Given the description of an element on the screen output the (x, y) to click on. 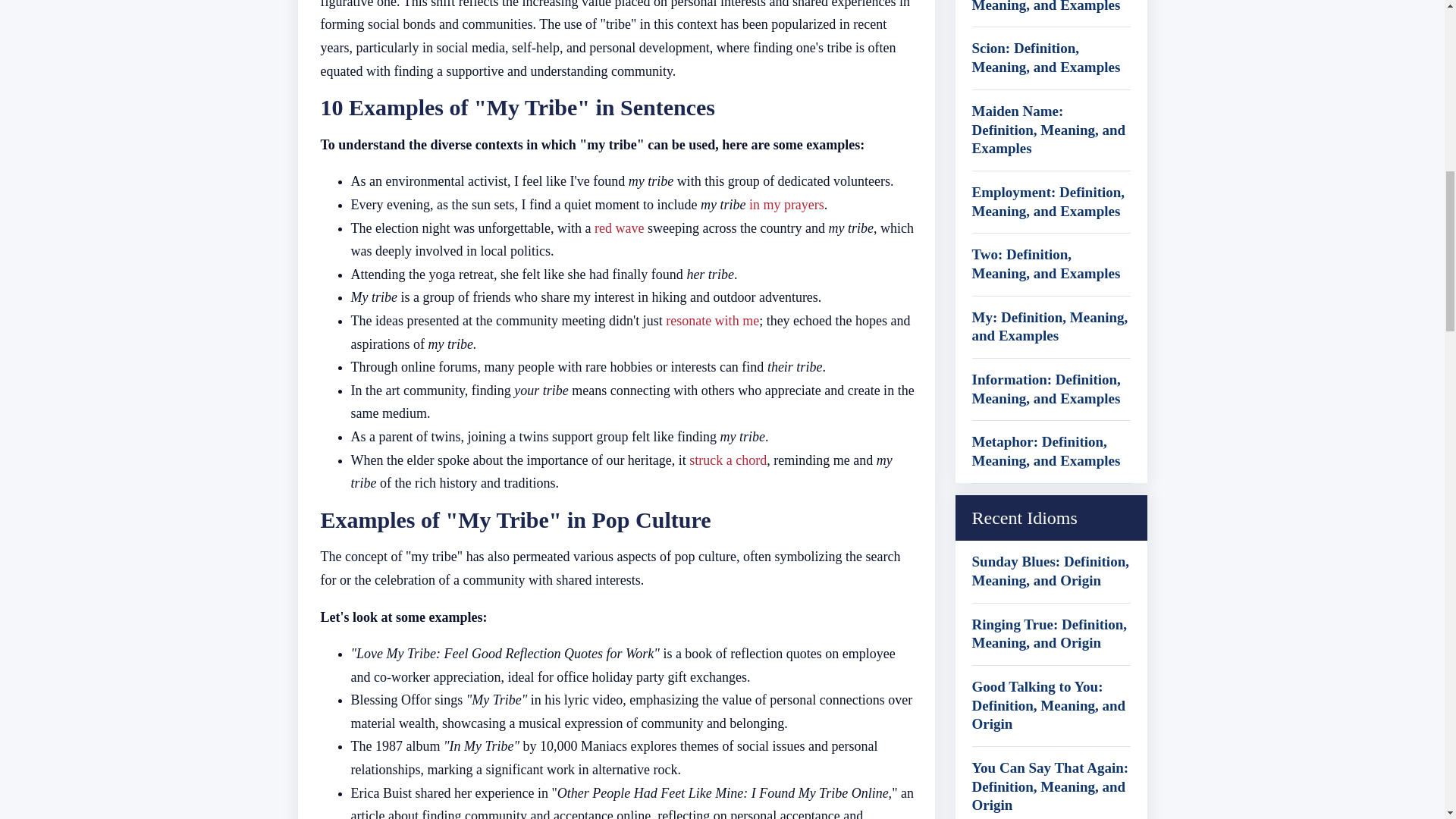
red wave (618, 227)
struck a chord (727, 459)
in my prayers (786, 204)
resonate with me (711, 320)
